Given the description of an element on the screen output the (x, y) to click on. 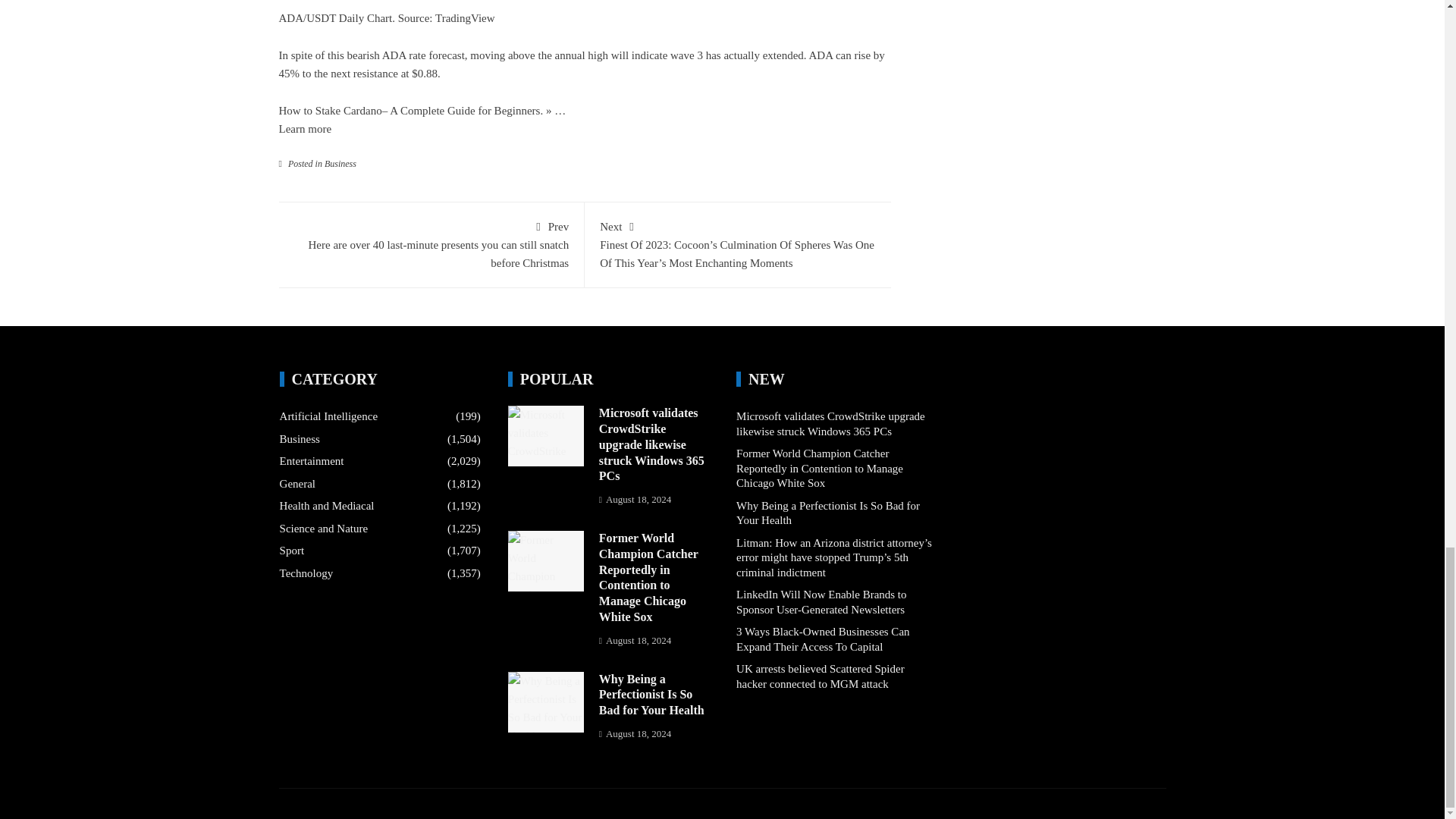
Science and Nature (323, 529)
Business (340, 163)
Health and Mediacal (326, 506)
Sport (291, 550)
Entertainment (311, 461)
Learn more (305, 128)
Artificial Intelligence (328, 417)
